Given the description of an element on the screen output the (x, y) to click on. 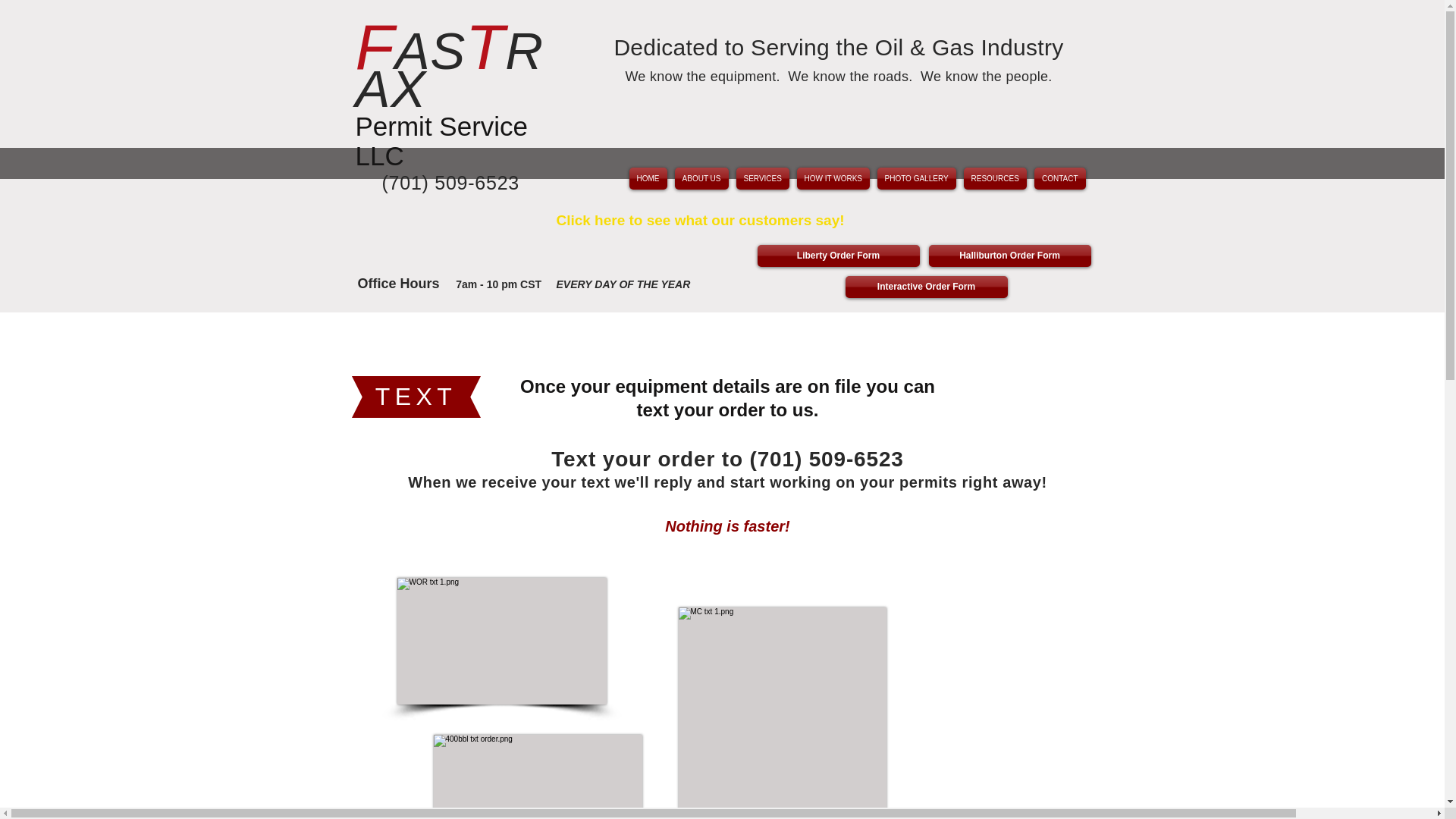
Interactive Order Form (925, 287)
RESOURCES (994, 178)
Click here to see what our customers say! (700, 220)
CONTACT (1056, 178)
Halliburton Order Form (1009, 255)
HOME (646, 178)
SERVICES (762, 178)
HOW IT WORKS (833, 178)
Liberty Order Form (837, 255)
ABOUT US (700, 178)
